Given the description of an element on the screen output the (x, y) to click on. 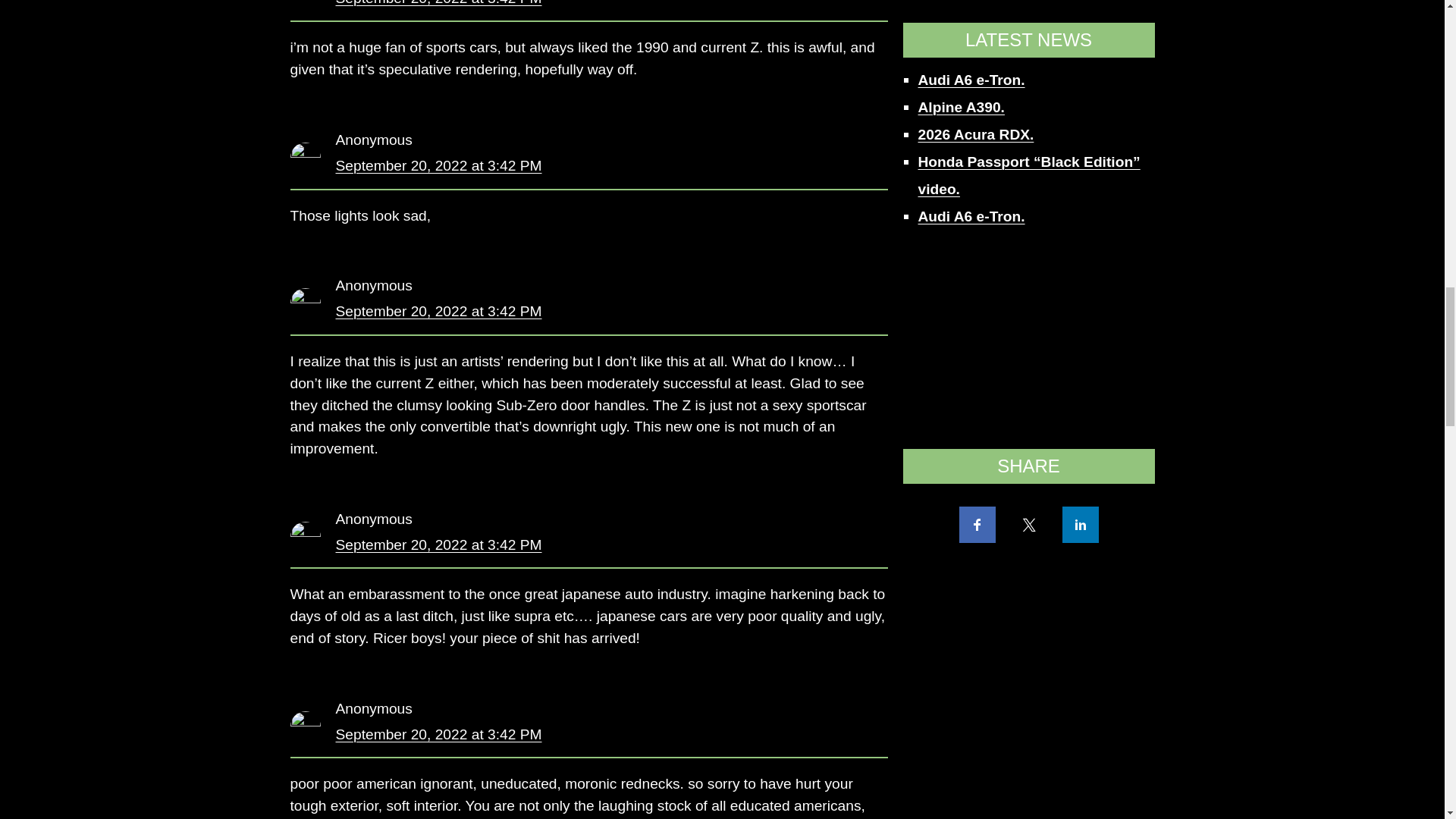
September 20, 2022 at 3:42 PM (437, 311)
September 20, 2022 at 3:42 PM (437, 2)
September 20, 2022 at 3:42 PM (437, 165)
September 20, 2022 at 3:42 PM (437, 544)
September 20, 2022 at 3:42 PM (437, 734)
